Given the description of an element on the screen output the (x, y) to click on. 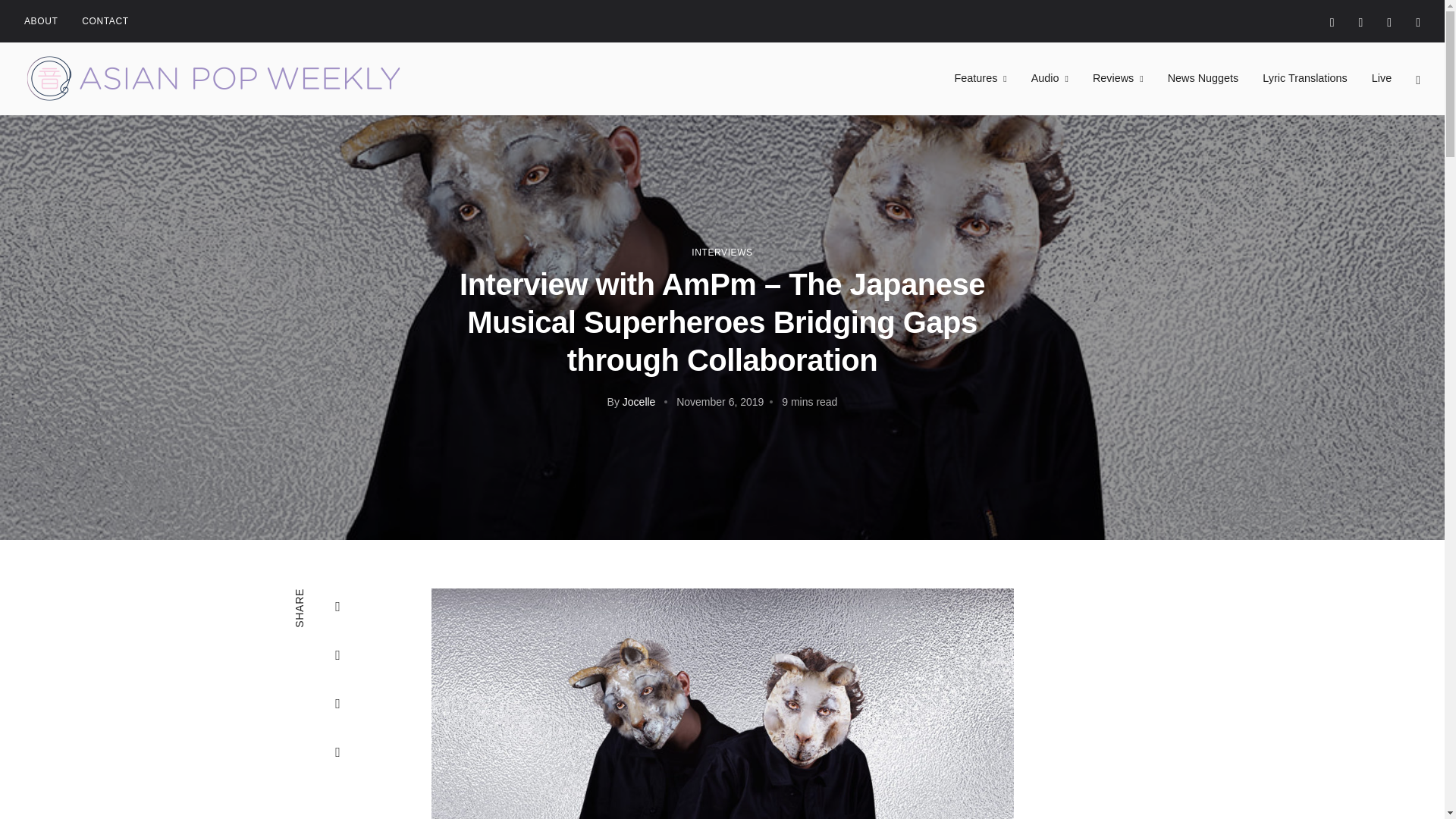
Reviews (1117, 78)
Features (981, 78)
ABOUT (41, 20)
Jocelle (639, 401)
YouTube (1389, 21)
Lyric Translations (1304, 78)
CONTACT (104, 20)
Audio (1049, 78)
News Nuggets (1203, 78)
Facebook (338, 606)
Facebook (1360, 21)
Twitter (338, 655)
Live (1381, 78)
INTERVIEWS (721, 252)
Twitter (1418, 21)
